Given the description of an element on the screen output the (x, y) to click on. 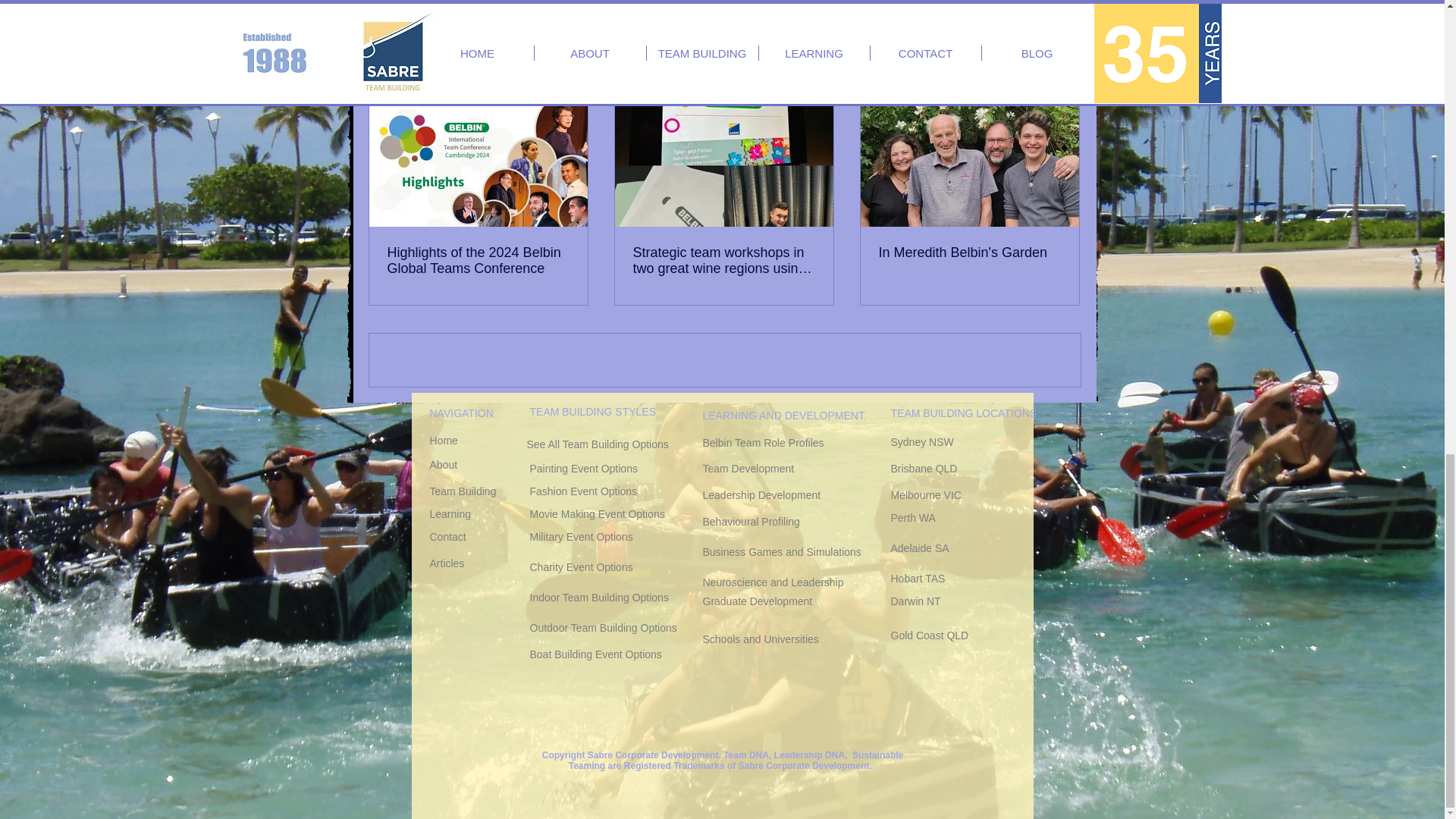
See All (1064, 76)
